Given the description of an element on the screen output the (x, y) to click on. 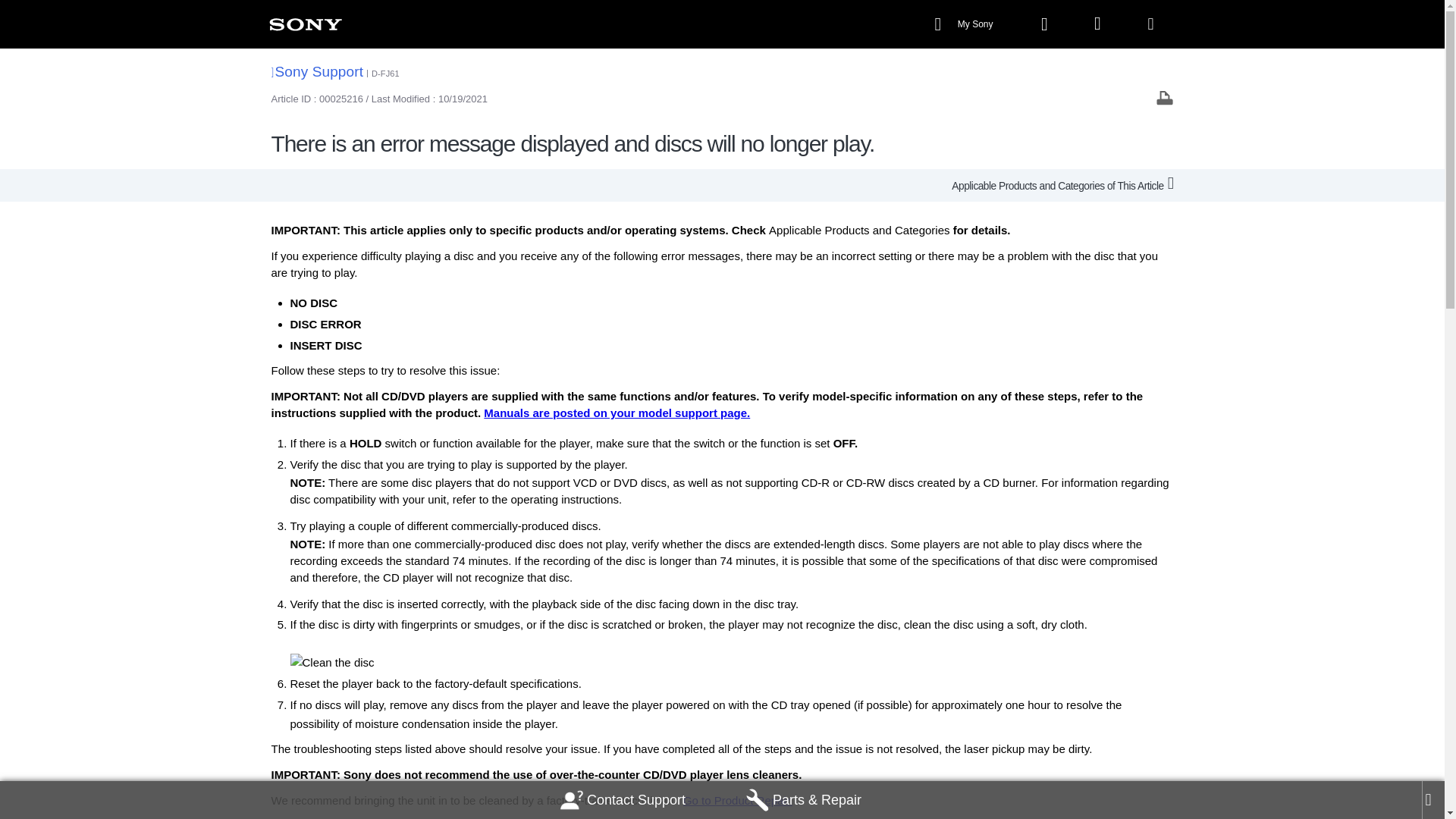
My Sony (964, 24)
Print (1164, 97)
Contact Support (622, 799)
